Given the description of an element on the screen output the (x, y) to click on. 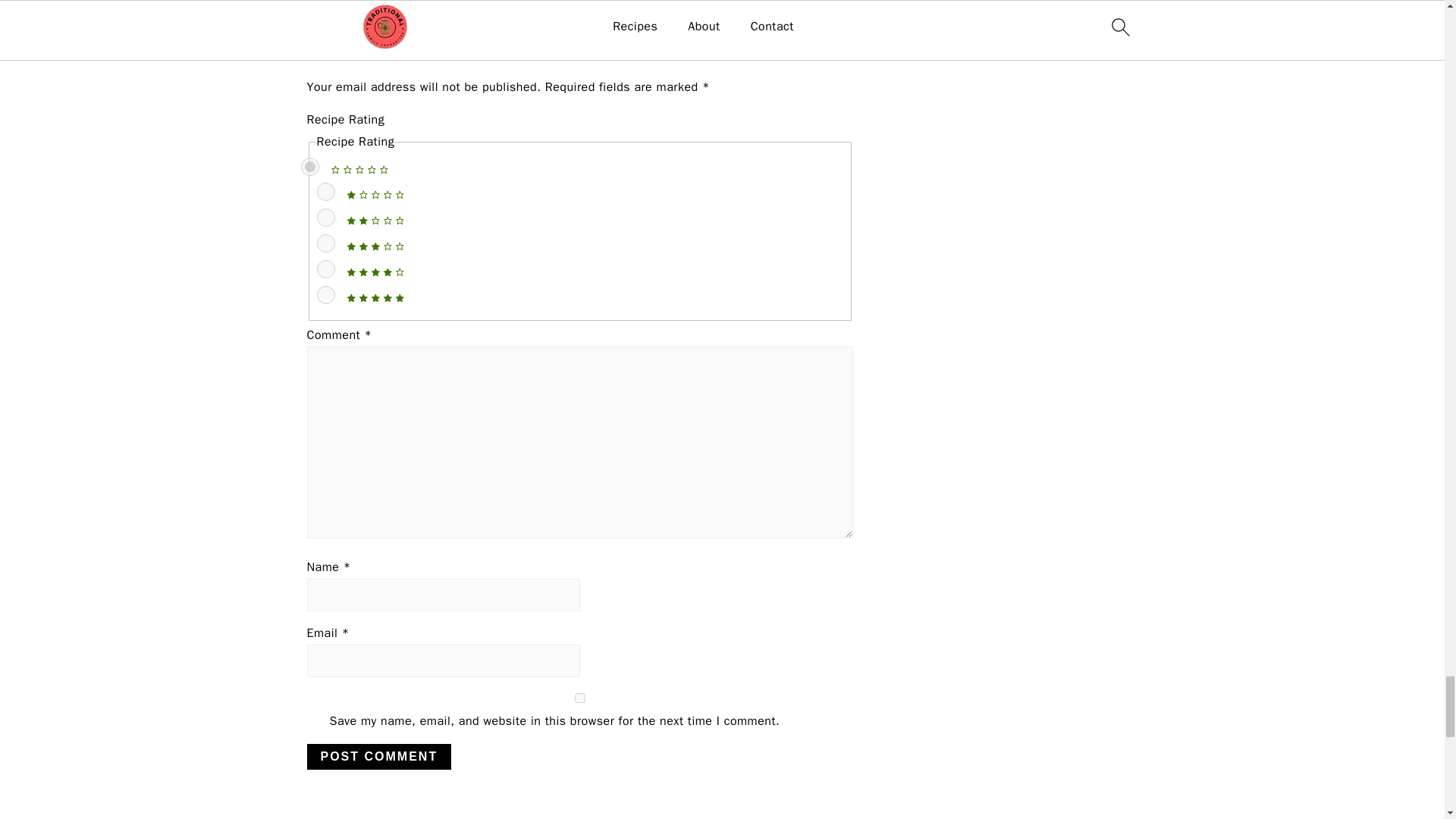
3 (325, 243)
1 (325, 191)
5 (325, 294)
2 (325, 217)
0 (308, 167)
Post Comment (378, 756)
4 (325, 269)
yes (578, 697)
